Given the description of an element on the screen output the (x, y) to click on. 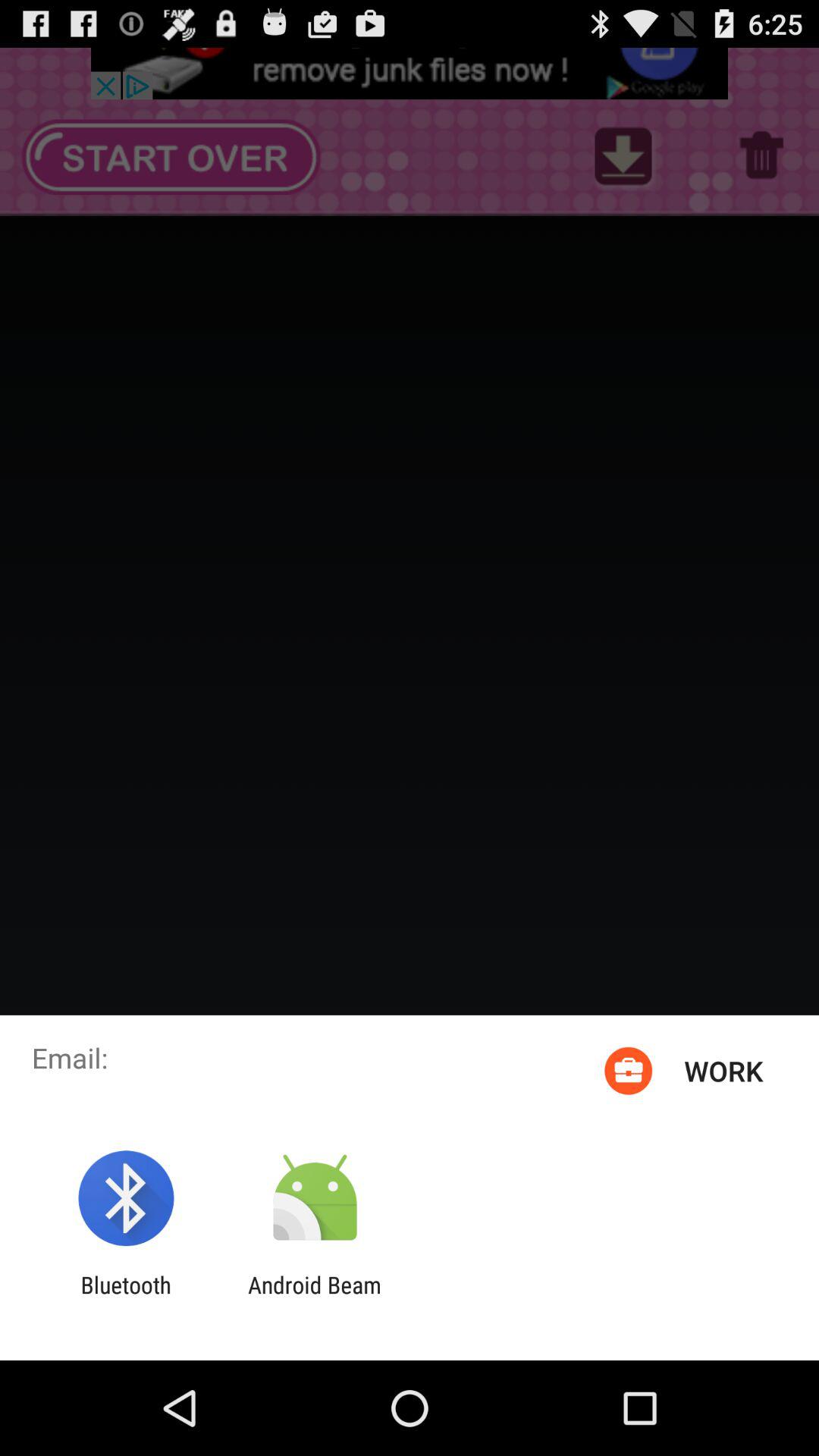
turn off the bluetooth app (125, 1298)
